Given the description of an element on the screen output the (x, y) to click on. 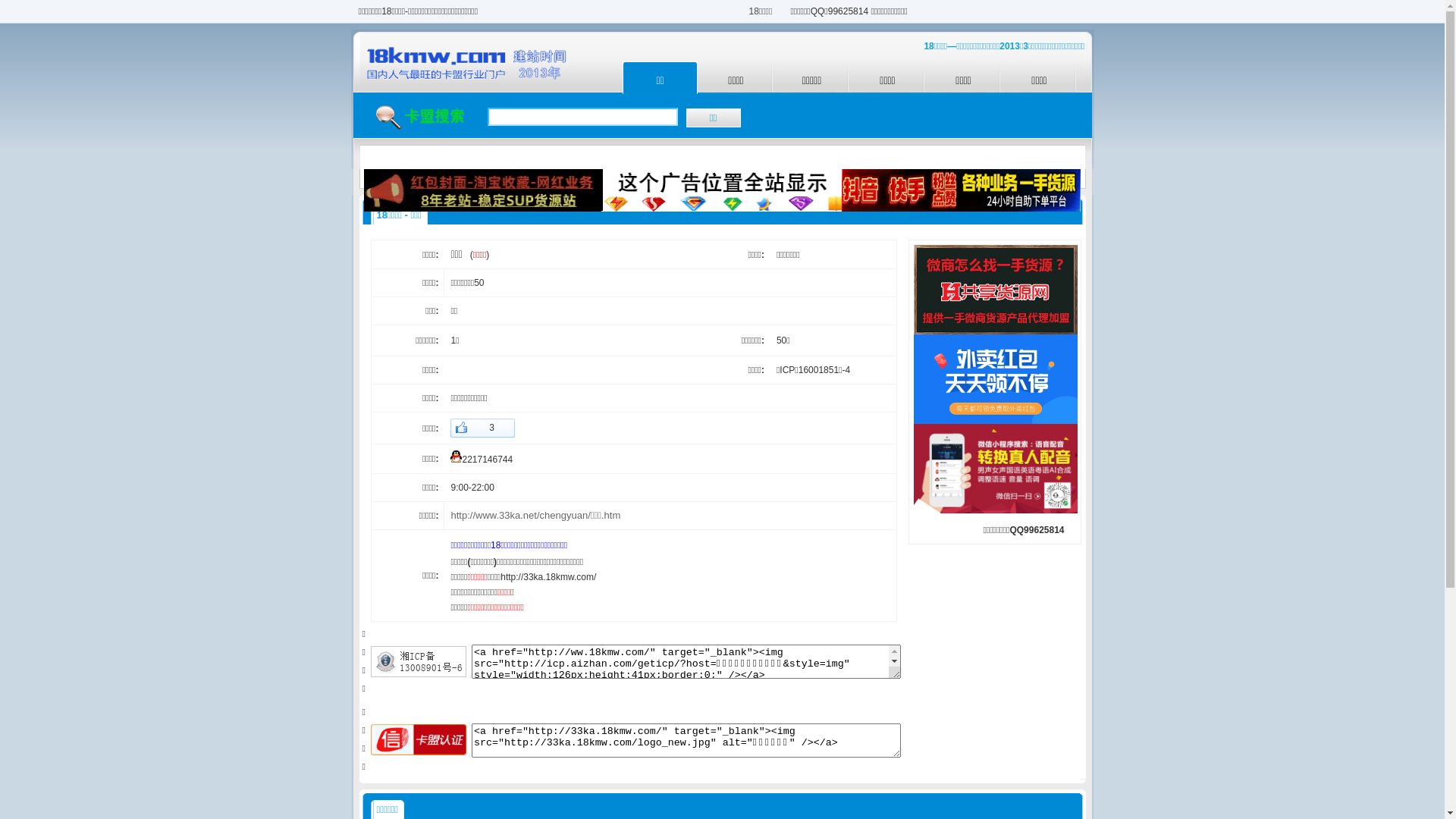
http://33ka.18kmw.com/ Element type: text (548, 576)
